Given the description of an element on the screen output the (x, y) to click on. 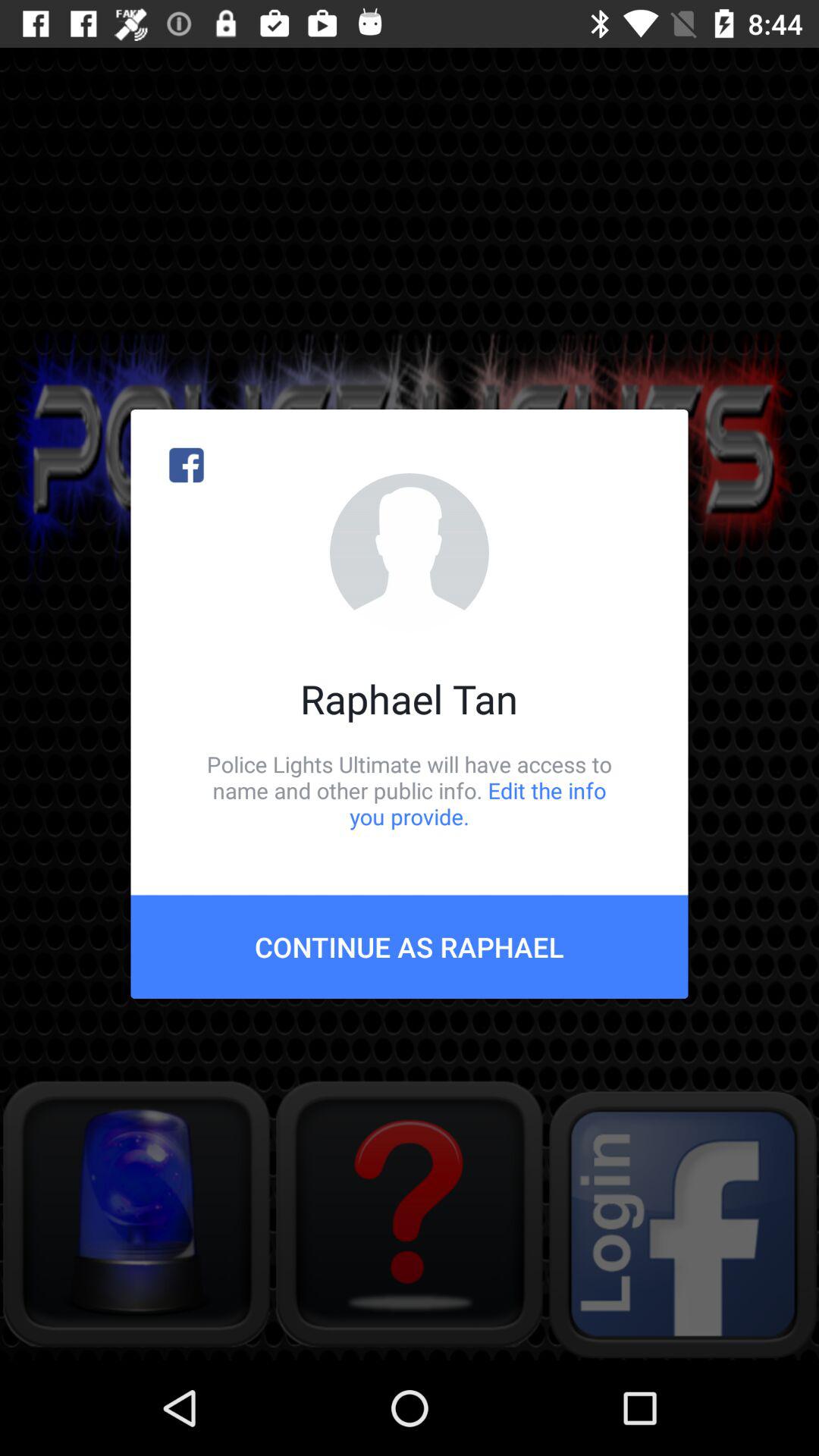
tap the item below police lights ultimate item (409, 946)
